Given the description of an element on the screen output the (x, y) to click on. 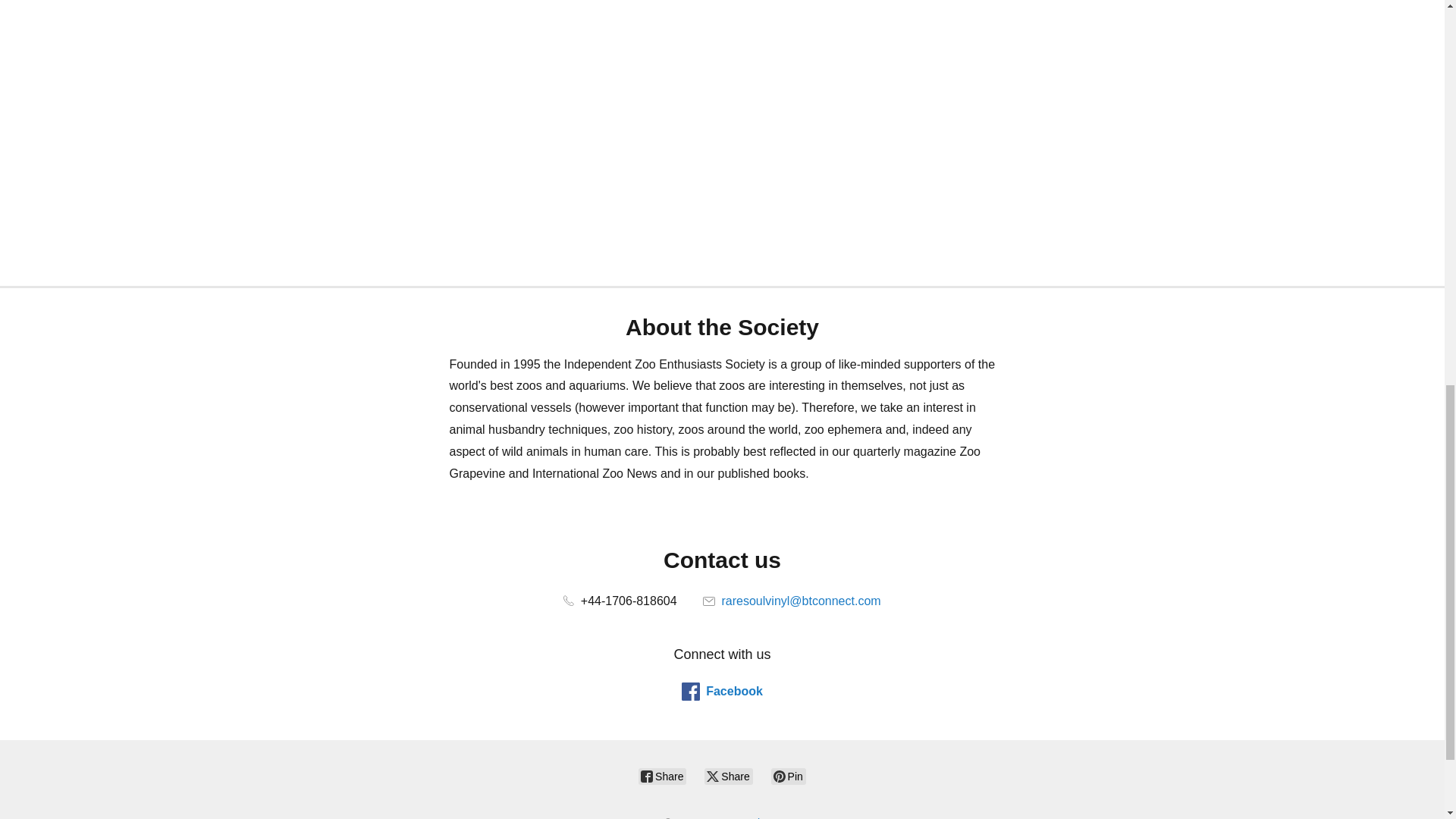
Facebook (721, 691)
Share (728, 776)
Report abuse (748, 817)
Share (662, 776)
Pin (788, 776)
